Given the description of an element on the screen output the (x, y) to click on. 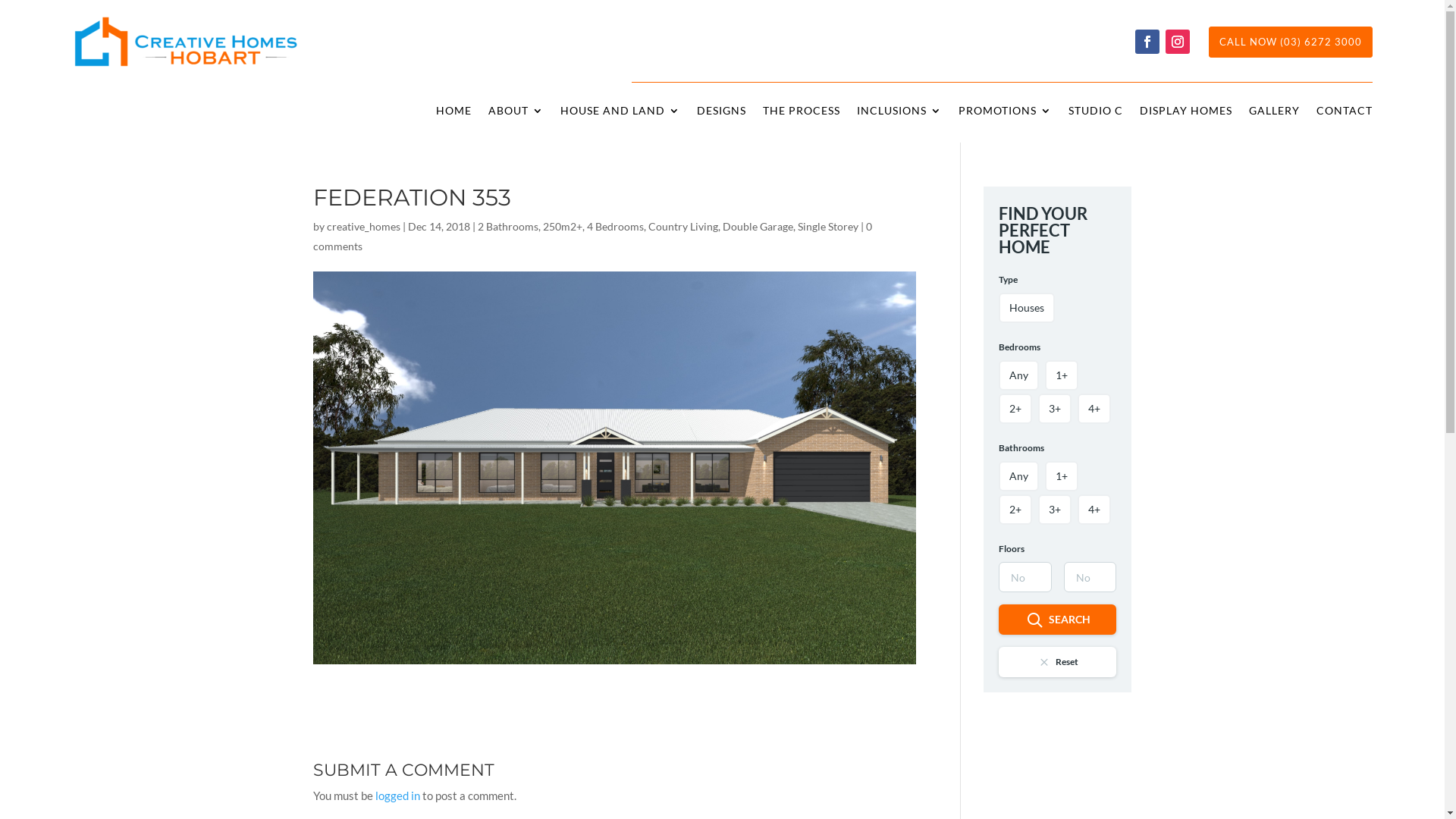
GALLERY Element type: text (1273, 113)
Reset Element type: text (1057, 661)
creative_homes Element type: text (362, 225)
SEARCH Element type: text (1057, 619)
Double Garage Element type: text (756, 225)
HOME Element type: text (453, 113)
Single Storey Element type: text (827, 225)
250m2+ Element type: text (562, 225)
Follow on Instagram Element type: hover (1177, 41)
2 Bathrooms Element type: text (507, 225)
4 Bedrooms Element type: text (614, 225)
DESIGNS Element type: text (721, 113)
ABOUT Element type: text (515, 113)
Follow on Facebook Element type: hover (1147, 41)
CALL NOW (03) 6272 3000 Element type: text (1290, 41)
Country Living Element type: text (682, 225)
0 comments Element type: text (591, 235)
THE PROCESS Element type: text (801, 113)
HOUSE AND LAND Element type: text (620, 113)
logged in Element type: text (396, 795)
CONTACT Element type: text (1344, 113)
INCLUSIONS Element type: text (898, 113)
New Creative logo length Element type: hover (185, 42)
PROMOTIONS Element type: text (1004, 113)
DISPLAY HOMES Element type: text (1185, 113)
STUDIO C Element type: text (1095, 113)
